Given the description of an element on the screen output the (x, y) to click on. 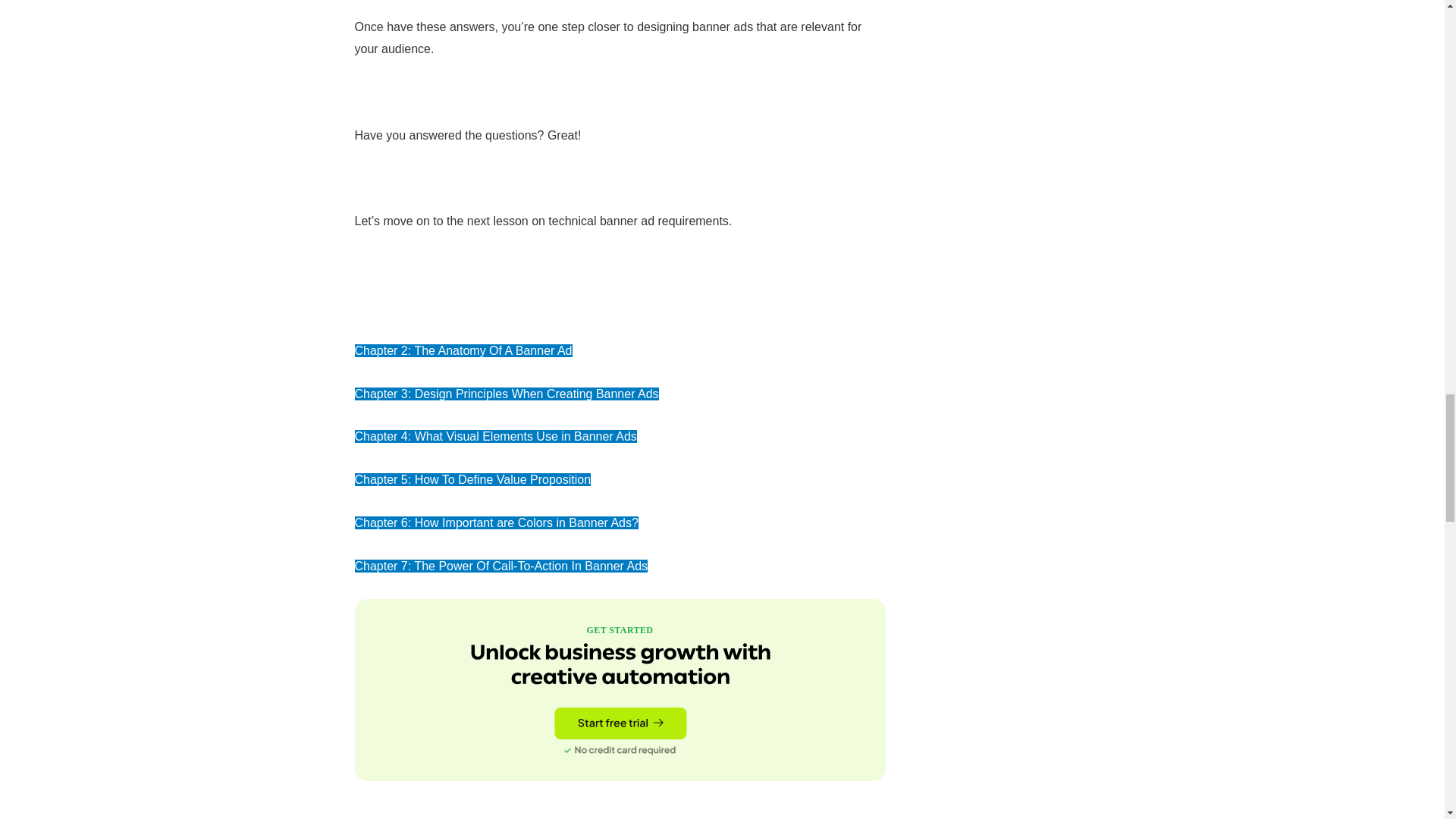
Chapter 3: Design Principles When Creating Banner Ads (507, 393)
Chapter 4: What Visual Elements Use in Banner Ads (496, 436)
Chapter 2: The Anatomy Of A Banner Ad (463, 350)
